Given the description of an element on the screen output the (x, y) to click on. 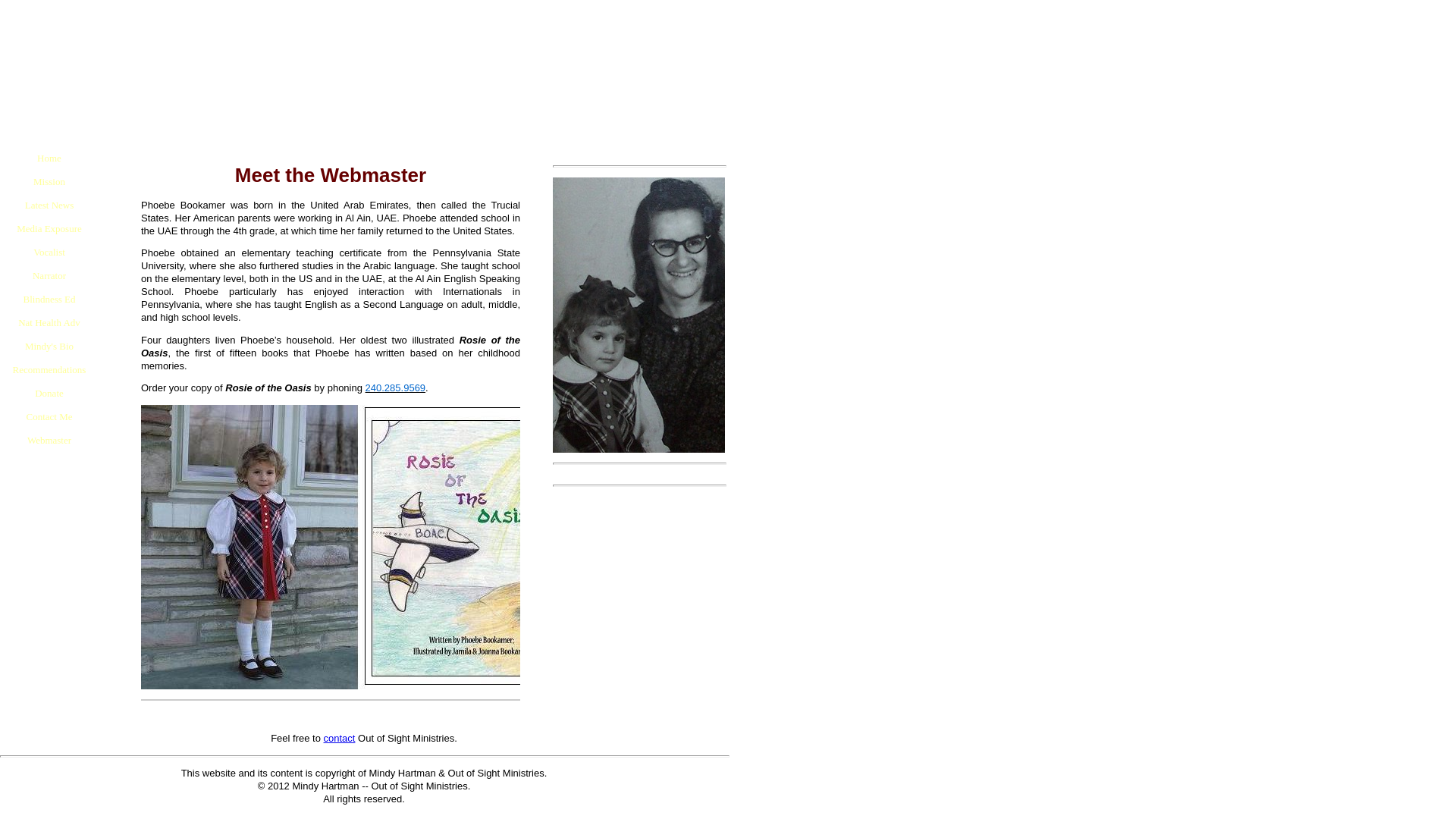
Media Exposure (49, 228)
Mission (49, 181)
Contact Me (49, 416)
Recommendations (49, 369)
Webmaster (49, 440)
Narrator (49, 275)
Donate (49, 392)
Nat Health Adv (49, 322)
Mindy's Bio (49, 345)
Blindness Ed (49, 299)
